Given the description of an element on the screen output the (x, y) to click on. 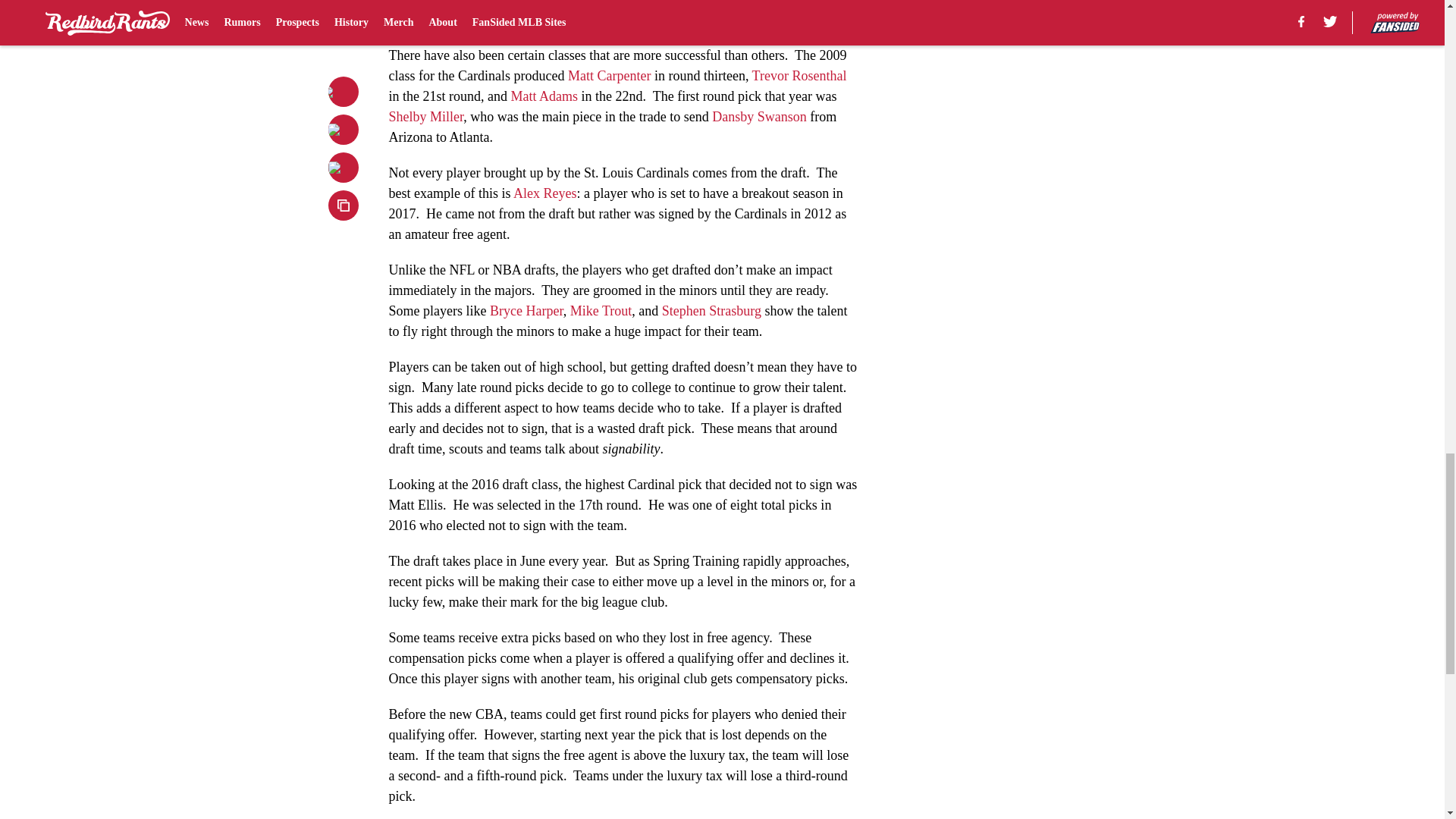
Matt Adams (544, 96)
Alex Reyes (544, 192)
Dansby Swanson (758, 116)
Matt Carpenter (608, 75)
Stephen Strasburg (711, 310)
Bryce Harper (526, 310)
Trevor Rosenthal (799, 75)
Yadier Molina (633, 3)
Mike Trout (600, 310)
Shelby Miller (425, 116)
